Given the description of an element on the screen output the (x, y) to click on. 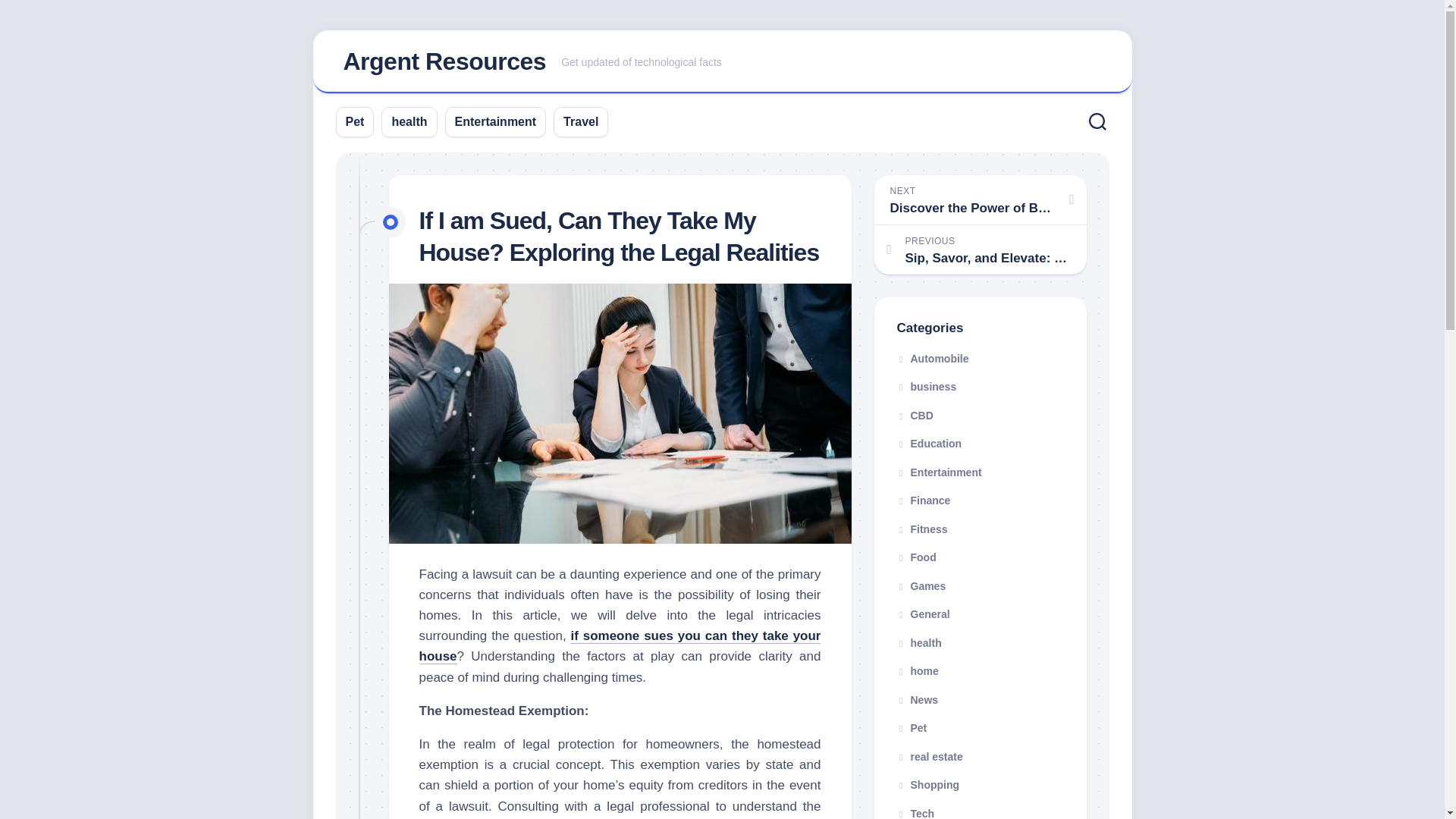
General (922, 613)
Automobile (932, 357)
health (408, 121)
Entertainment (938, 471)
Argent Resources (444, 61)
CBD (914, 415)
home (916, 671)
if someone sues you can they take your house (620, 645)
Shopping (927, 784)
Games (920, 585)
real estate (929, 756)
business (926, 386)
Travel (580, 121)
Pet (911, 727)
